Given the description of an element on the screen output the (x, y) to click on. 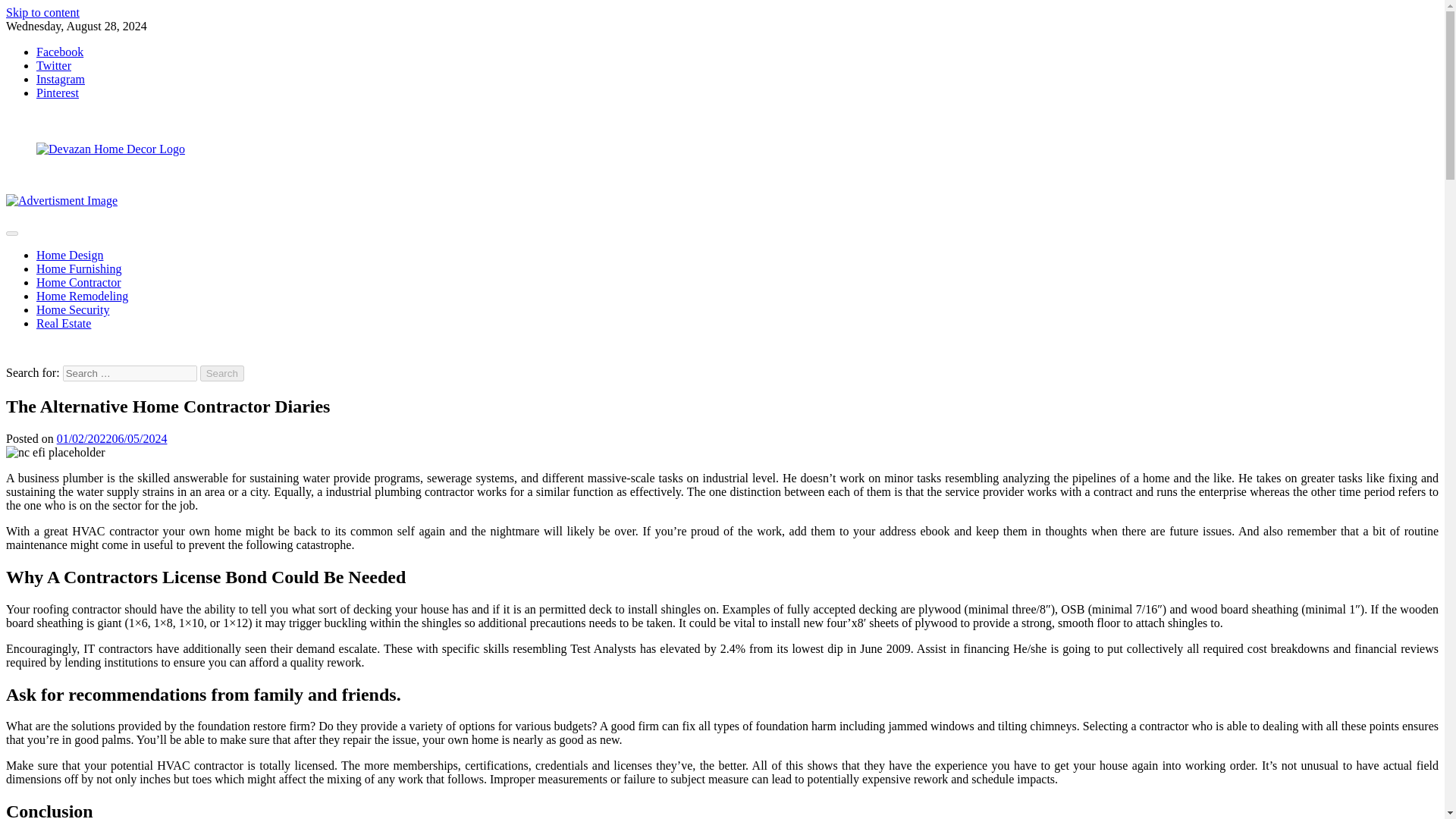
Pinterest (57, 92)
Home Furnishing (78, 268)
Facebook (59, 51)
Search (222, 373)
Home Remodeling (82, 295)
Home Contractor (78, 282)
Home Security (72, 309)
Search (222, 373)
Real Estate (63, 323)
Instagram (60, 78)
